Given the description of an element on the screen output the (x, y) to click on. 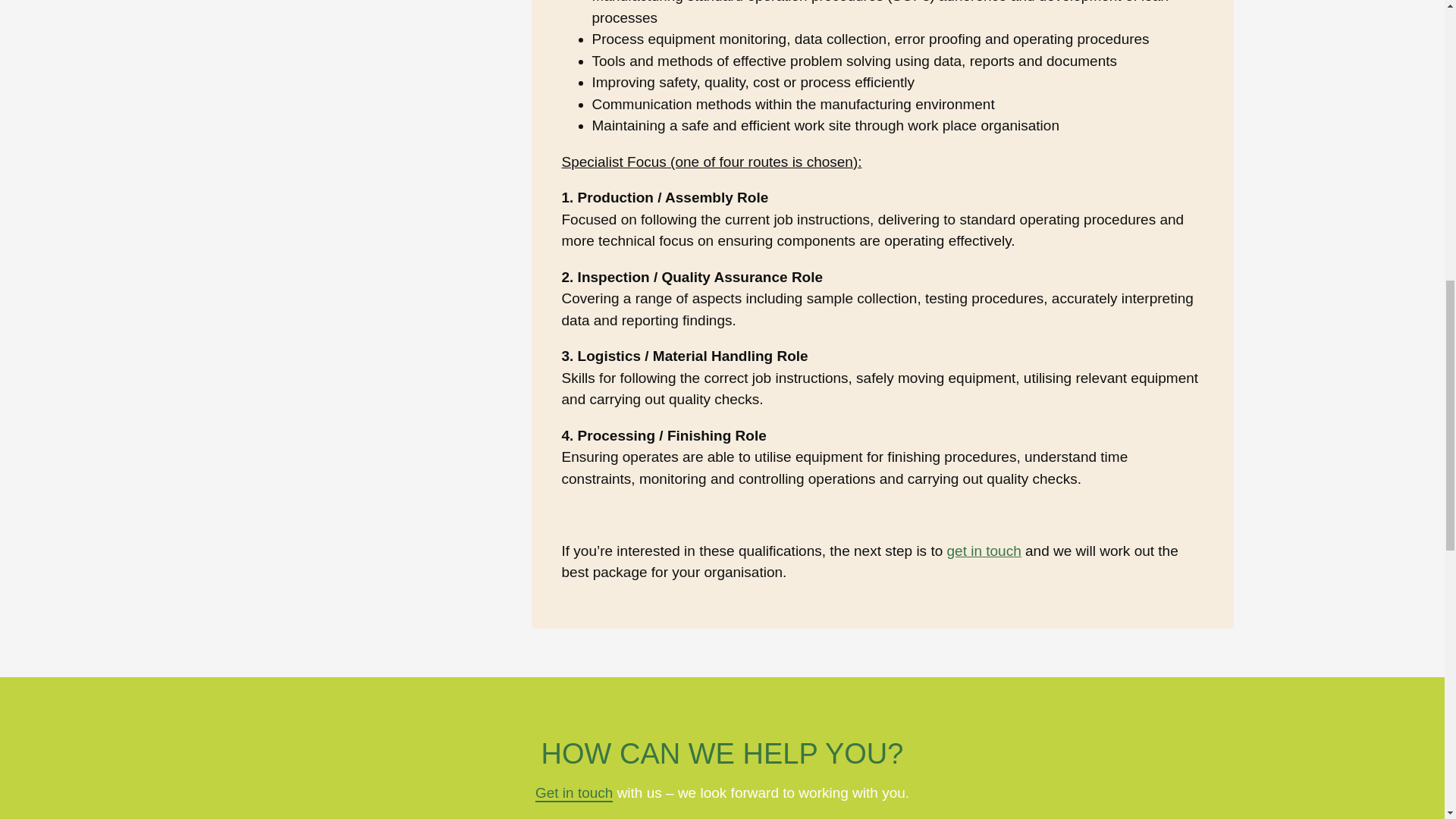
get in touch (984, 550)
Get in touch (573, 793)
Get in touch (573, 793)
